Given the description of an element on the screen output the (x, y) to click on. 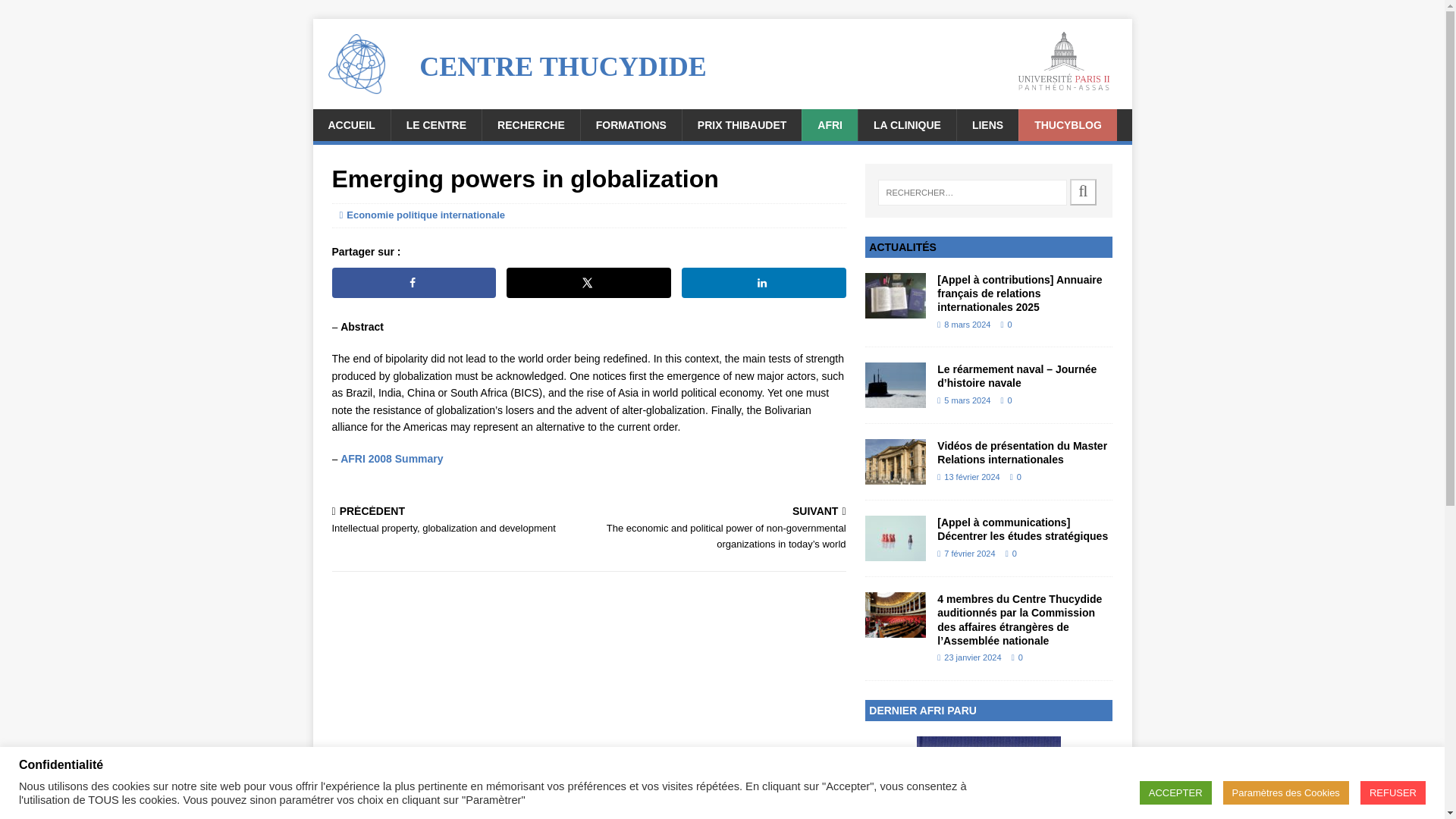
Share on LinkedIn (763, 282)
Share on X (588, 282)
Share on Facebook (413, 282)
